Given the description of an element on the screen output the (x, y) to click on. 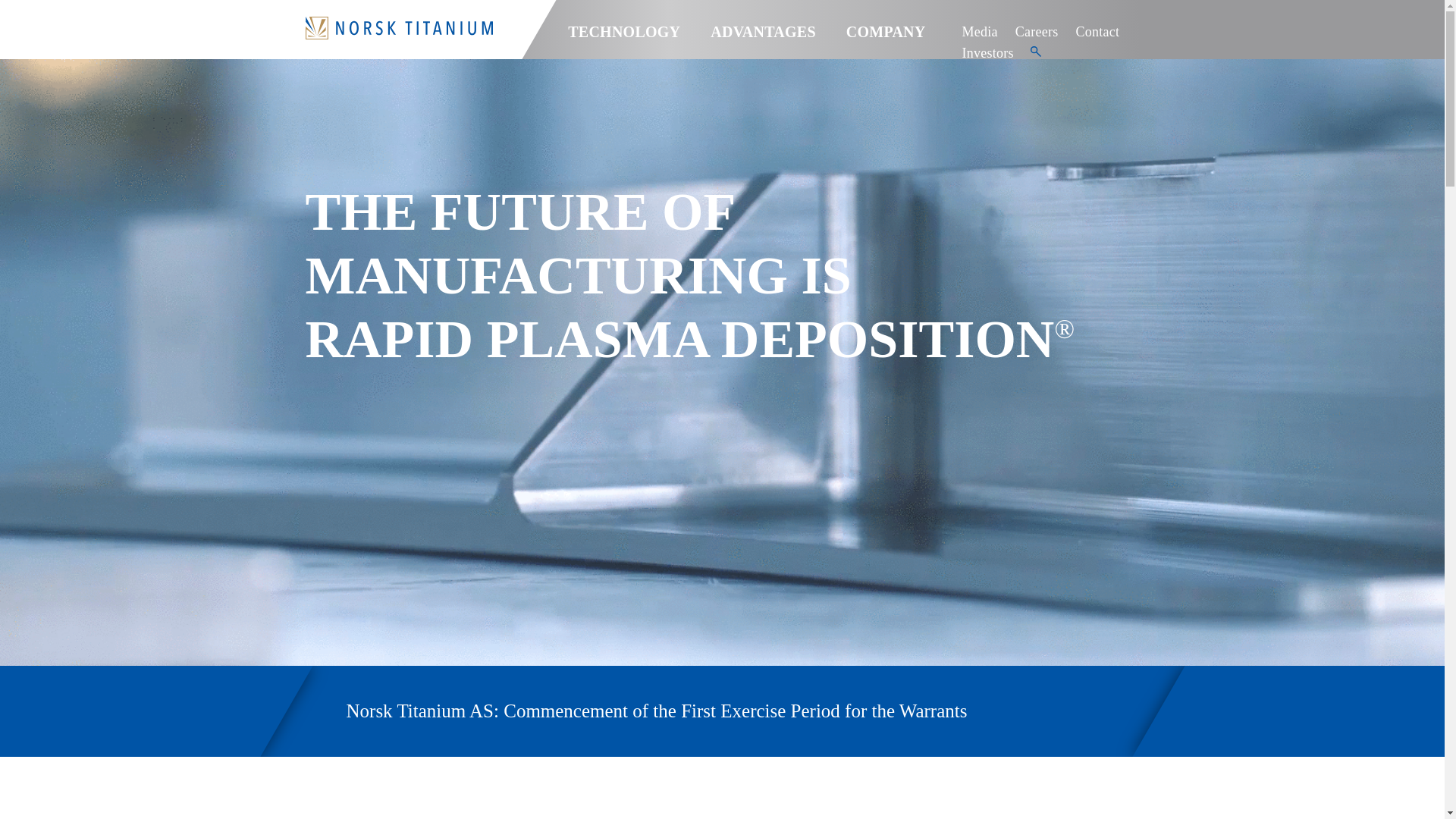
Media (978, 27)
ADVANTAGES (762, 36)
Investors (986, 48)
Contact (1097, 27)
TECHNOLOGY (623, 36)
Careers (1036, 27)
COMPANY (885, 36)
